Given the description of an element on the screen output the (x, y) to click on. 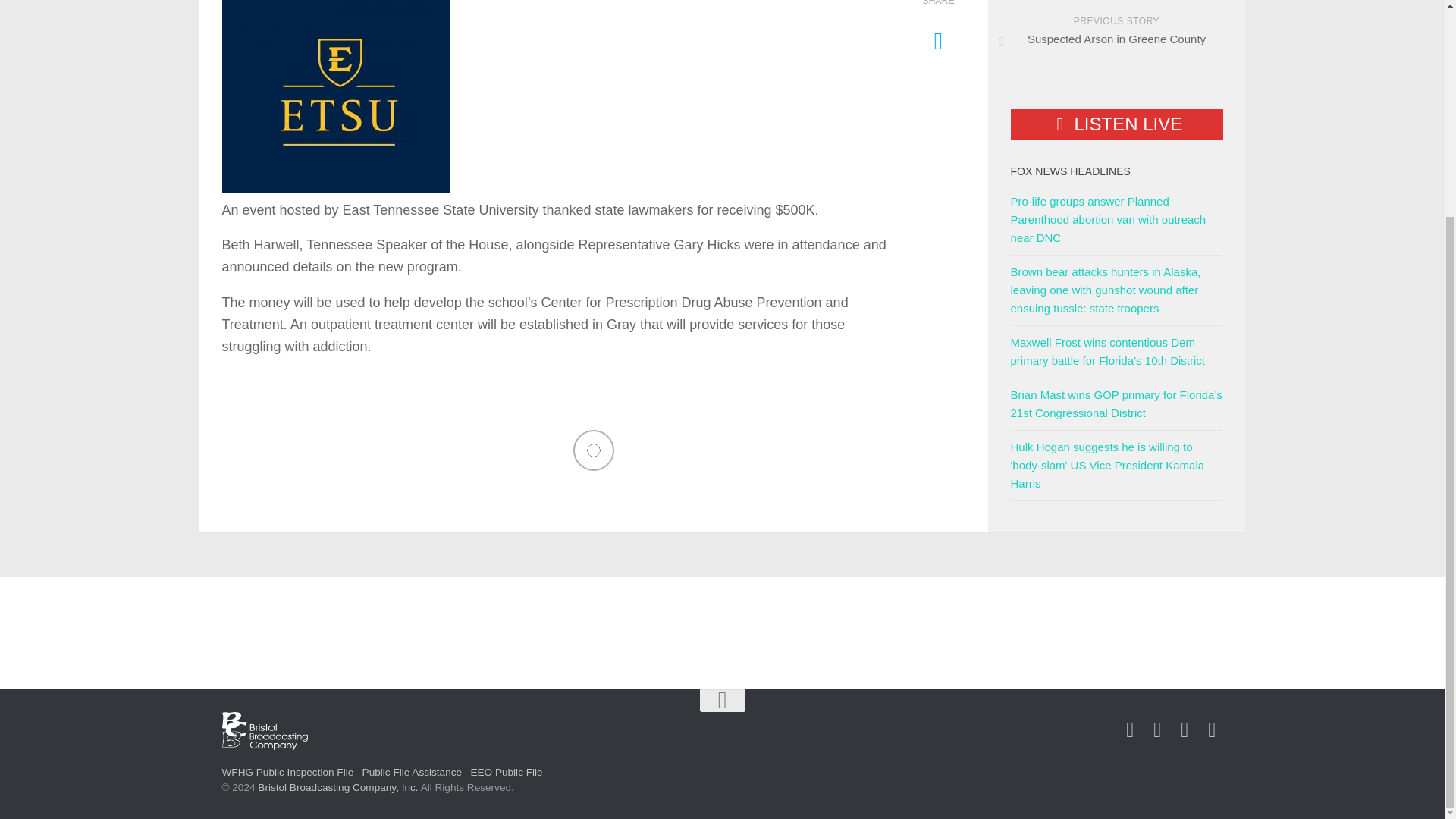
Contact Us (1184, 730)
Follow us on Twitter (1157, 730)
Follow us on Facebook (1129, 730)
Rss Feed (1212, 730)
